Given the description of an element on the screen output the (x, y) to click on. 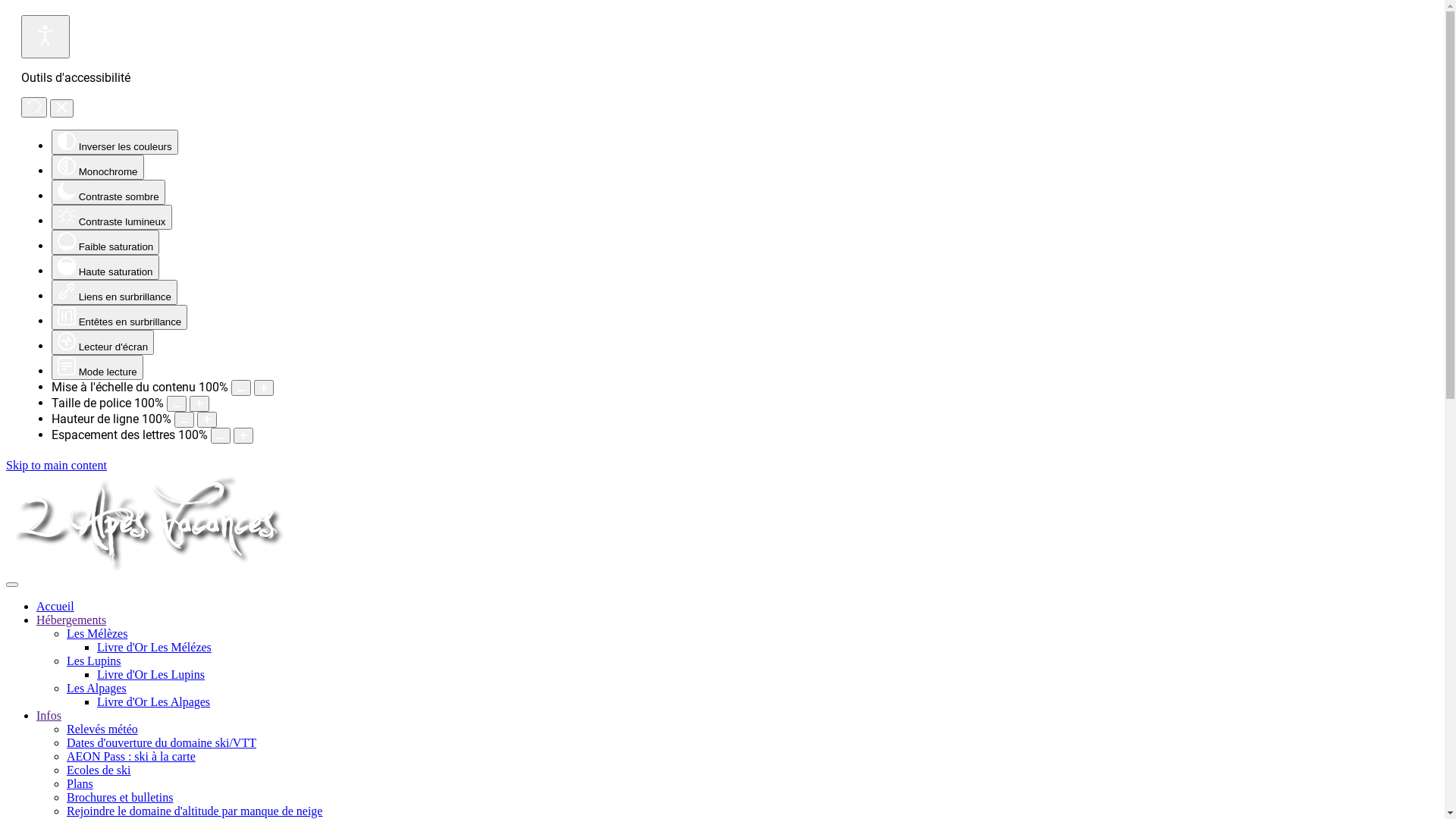
Liens en surbrillance Element type: text (114, 291)
Augmenter la taille de police Element type: hover (199, 403)
Brochures et bulletins Element type: text (119, 796)
Diminuer l'espace des lettres Element type: hover (220, 435)
Rejoindre le domaine d'altitude par manque de neige Element type: text (194, 810)
Diminuer la hauteur de ligne Element type: hover (184, 419)
Haute saturation Element type: text (105, 266)
Contraste sombre Element type: text (108, 191)
Livre d'Or Les Alpages Element type: text (153, 701)
Augmenter la taille du contenu Element type: hover (263, 387)
Ecoles de ski Element type: text (98, 769)
Plans Element type: text (79, 783)
Les Lupins Element type: text (93, 660)
Skip to main content Element type: text (56, 464)
Contraste lumineux Element type: text (111, 216)
Augmenter la hauteur de ligne Element type: hover (206, 419)
Dates d'ouverture du domaine ski/VTT Element type: text (161, 742)
Diminuer la taille du contenu Element type: hover (241, 387)
Les Alpages Element type: text (96, 687)
Faible saturation Element type: text (105, 241)
Diminuer la taille de police Element type: hover (176, 403)
Livre d'Or Les Lupins Element type: text (150, 674)
Monochrome Element type: text (97, 166)
Mode lecture Element type: text (97, 366)
Infos Element type: text (48, 715)
Inverser les couleurs Element type: text (114, 141)
Augmenter l'espace des lettres Element type: hover (243, 435)
Accueil Element type: text (55, 605)
